Given the description of an element on the screen output the (x, y) to click on. 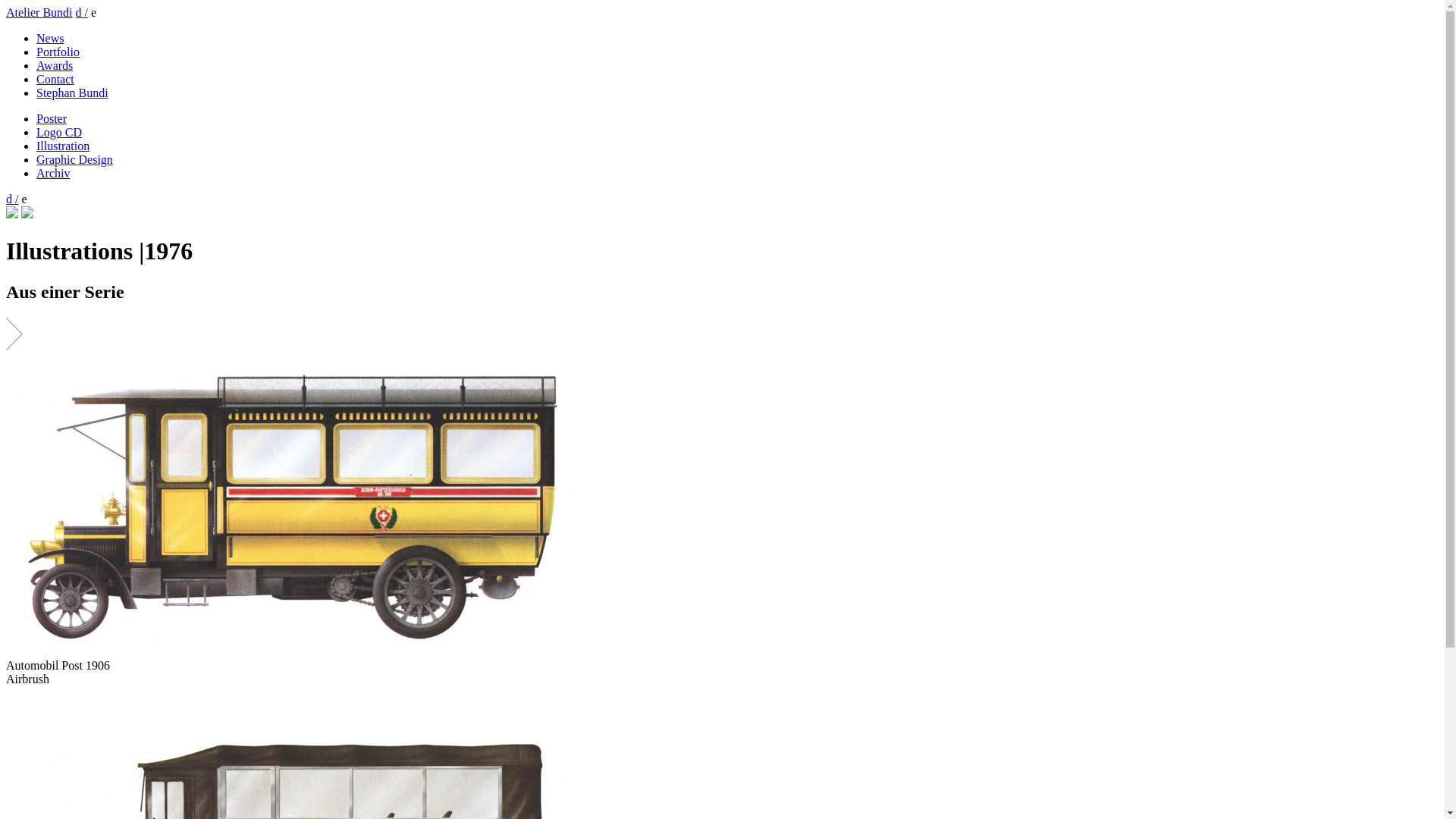
Archiv Element type: text (52, 172)
Atelier Bundi Element type: text (39, 12)
Postautos-3 Element type: hover (297, 504)
Stephan Bundi Element type: text (72, 92)
Poster Element type: text (51, 118)
Graphic Design Element type: text (74, 159)
d / Element type: text (81, 12)
Illustration Element type: text (62, 145)
News Element type: text (49, 37)
Portfolio Element type: text (57, 51)
Contact Element type: text (55, 78)
Awards Element type: text (54, 65)
Logo CD Element type: text (58, 131)
d / Element type: text (12, 198)
